Given the description of an element on the screen output the (x, y) to click on. 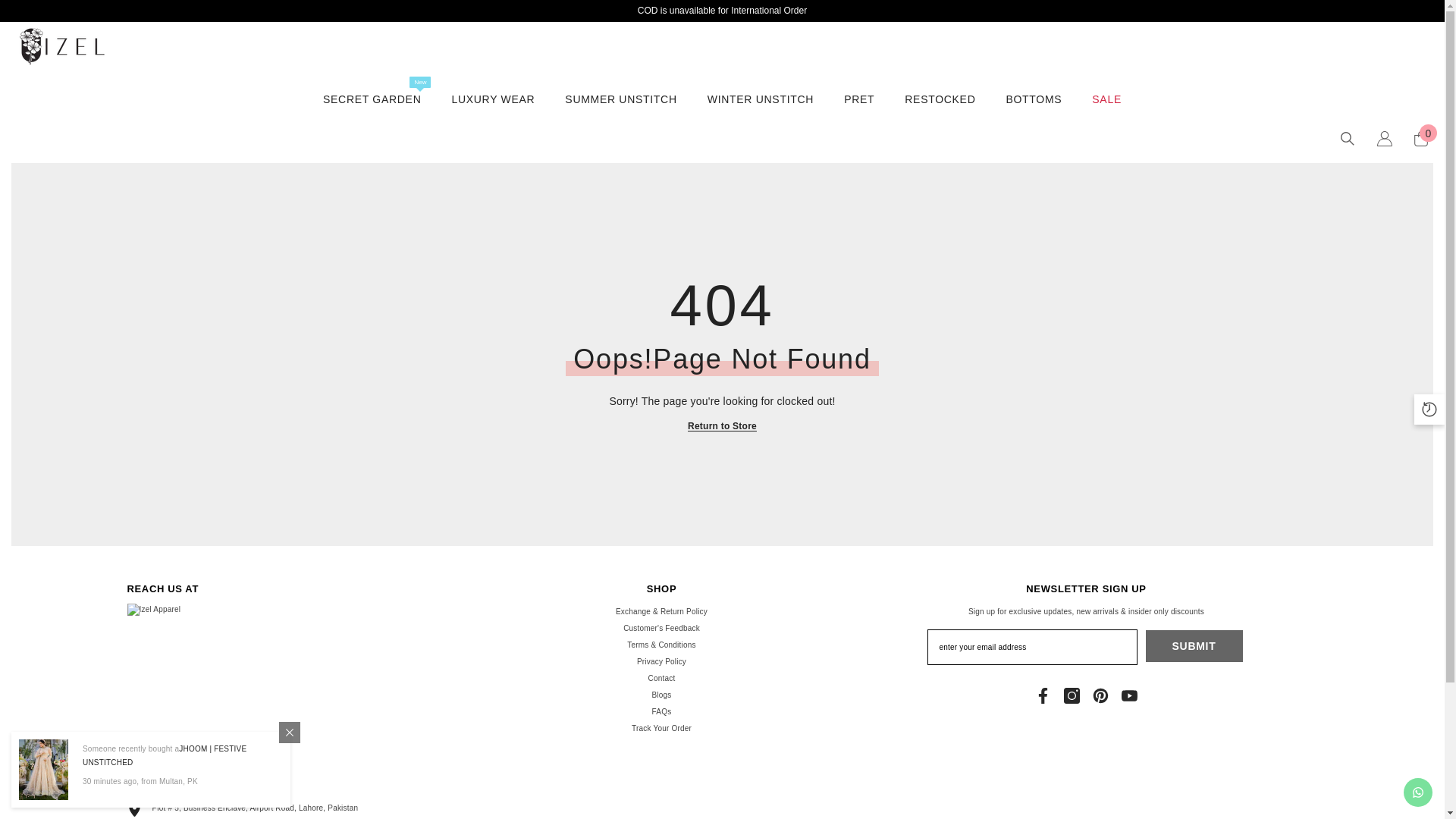
SUMMER UNSTITCH (620, 112)
WINTER UNSTITCH (760, 109)
LUXURY WEAR (492, 115)
SALE (1107, 108)
Return to Store (722, 426)
Blogs (371, 116)
PRET (660, 695)
Customer'S Feedback (858, 108)
Privacy Policy (661, 628)
FAQs (661, 661)
BOTTOMS (661, 711)
RESTOCKED (1420, 137)
Track Your Order (1033, 108)
